Given the description of an element on the screen output the (x, y) to click on. 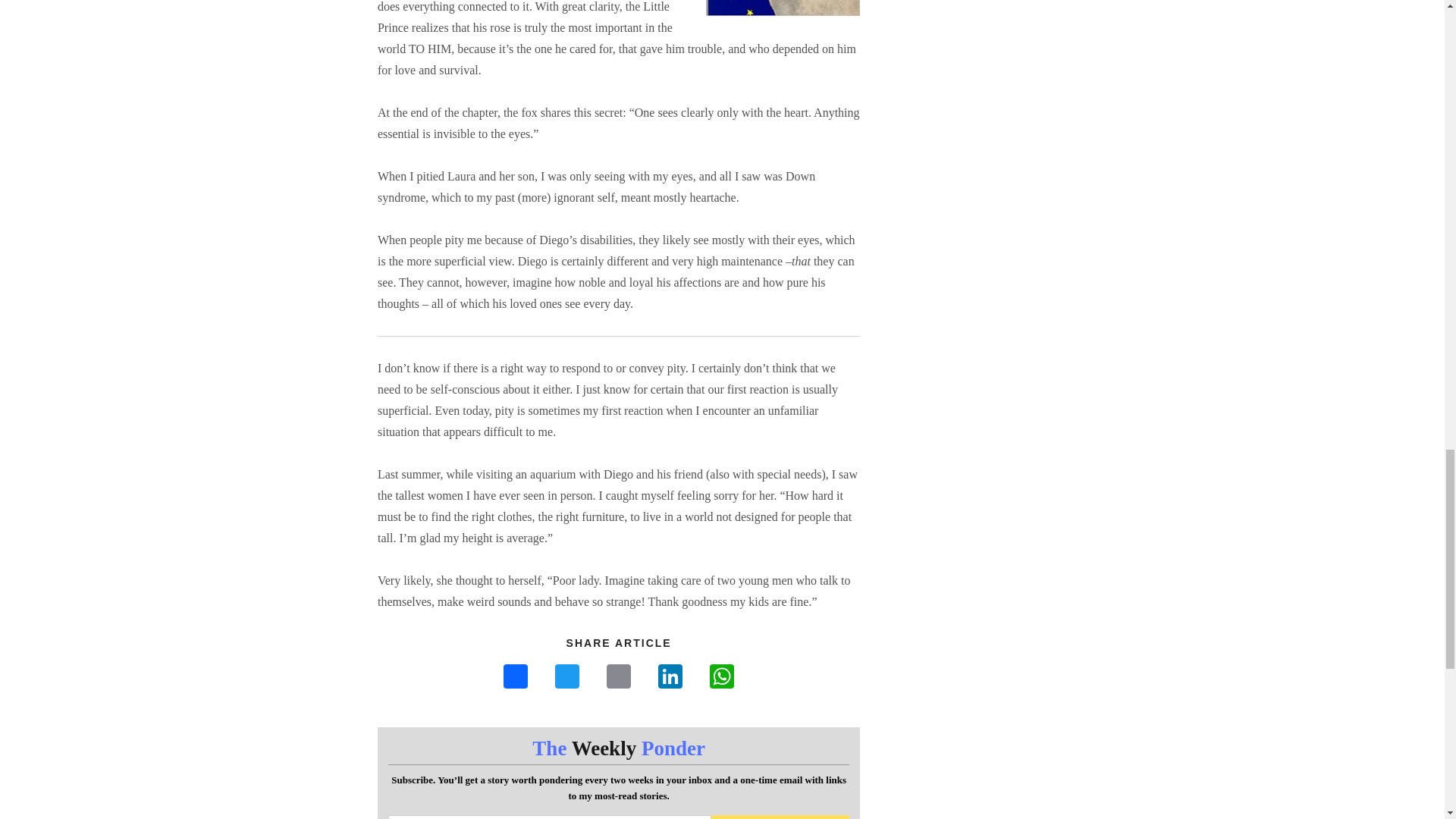
WhatsApp (721, 678)
Facebook (515, 678)
Twitter (566, 678)
Subscribe (780, 816)
WhatsApp (721, 678)
Twitter (566, 678)
Email (618, 678)
Email (618, 678)
LinkedIn (670, 678)
LinkedIn (670, 678)
